Given the description of an element on the screen output the (x, y) to click on. 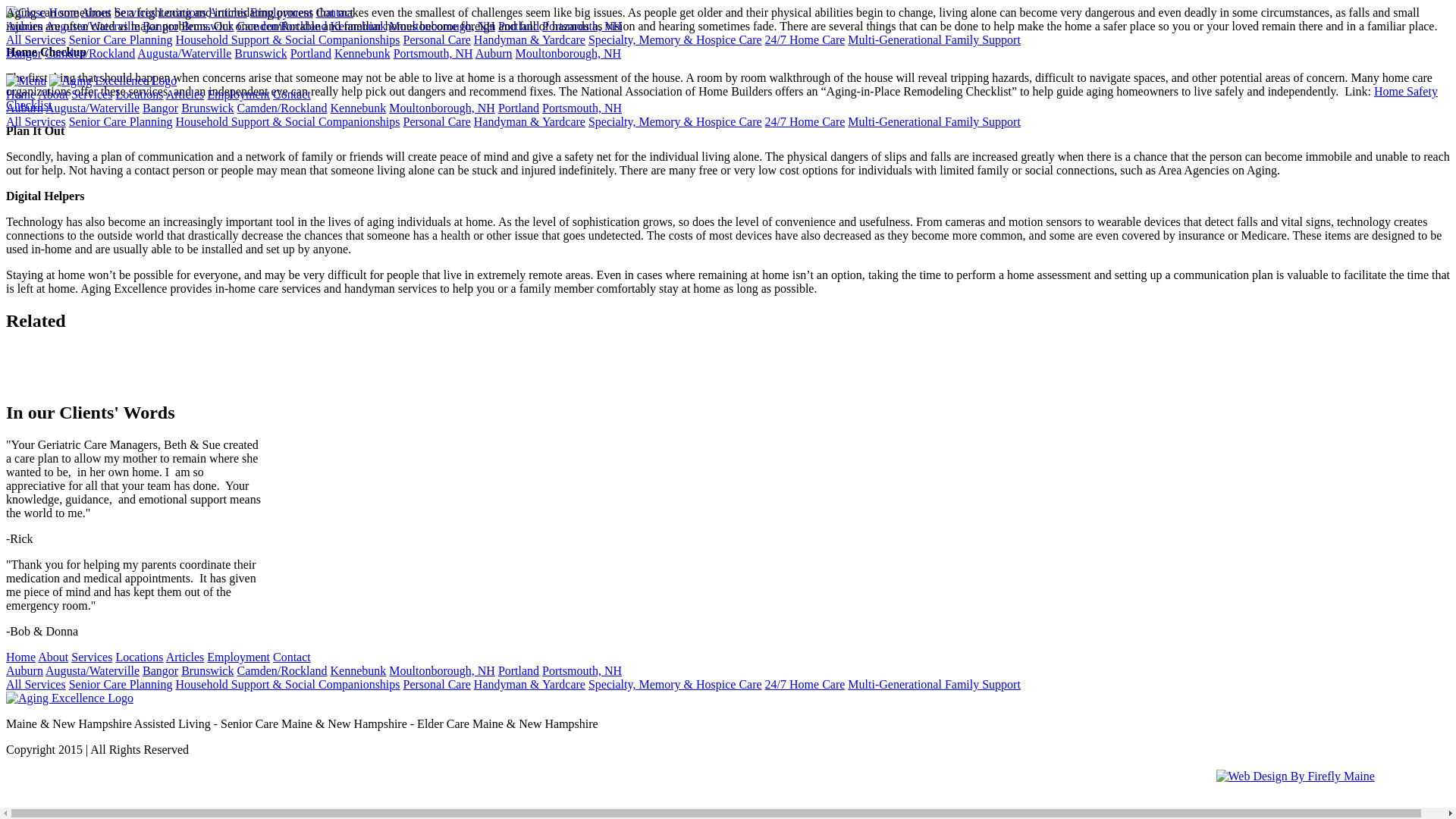
Services (91, 93)
Brunswick (260, 52)
Multi-Generational Family Support (933, 39)
Employment (281, 11)
Articles (227, 11)
About (96, 11)
Portland (310, 52)
Auburn (24, 25)
Bangor (23, 52)
Home (63, 11)
All Services (35, 39)
Portsmouth, NH (433, 52)
Portsmouth, NH (581, 25)
Moultonborough, NH (568, 52)
Portland (517, 25)
